Given the description of an element on the screen output the (x, y) to click on. 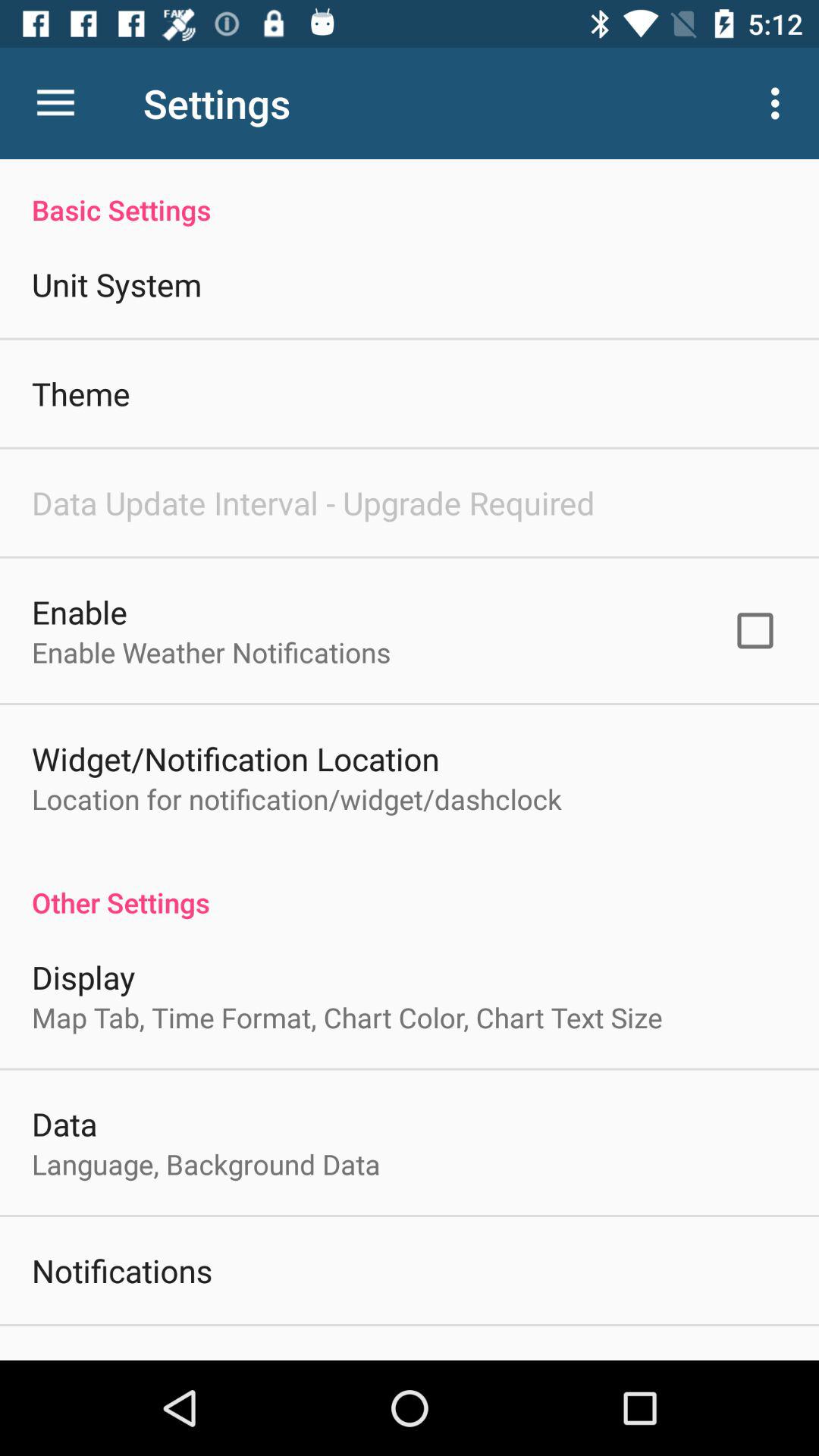
click icon below other settings (83, 976)
